Given the description of an element on the screen output the (x, y) to click on. 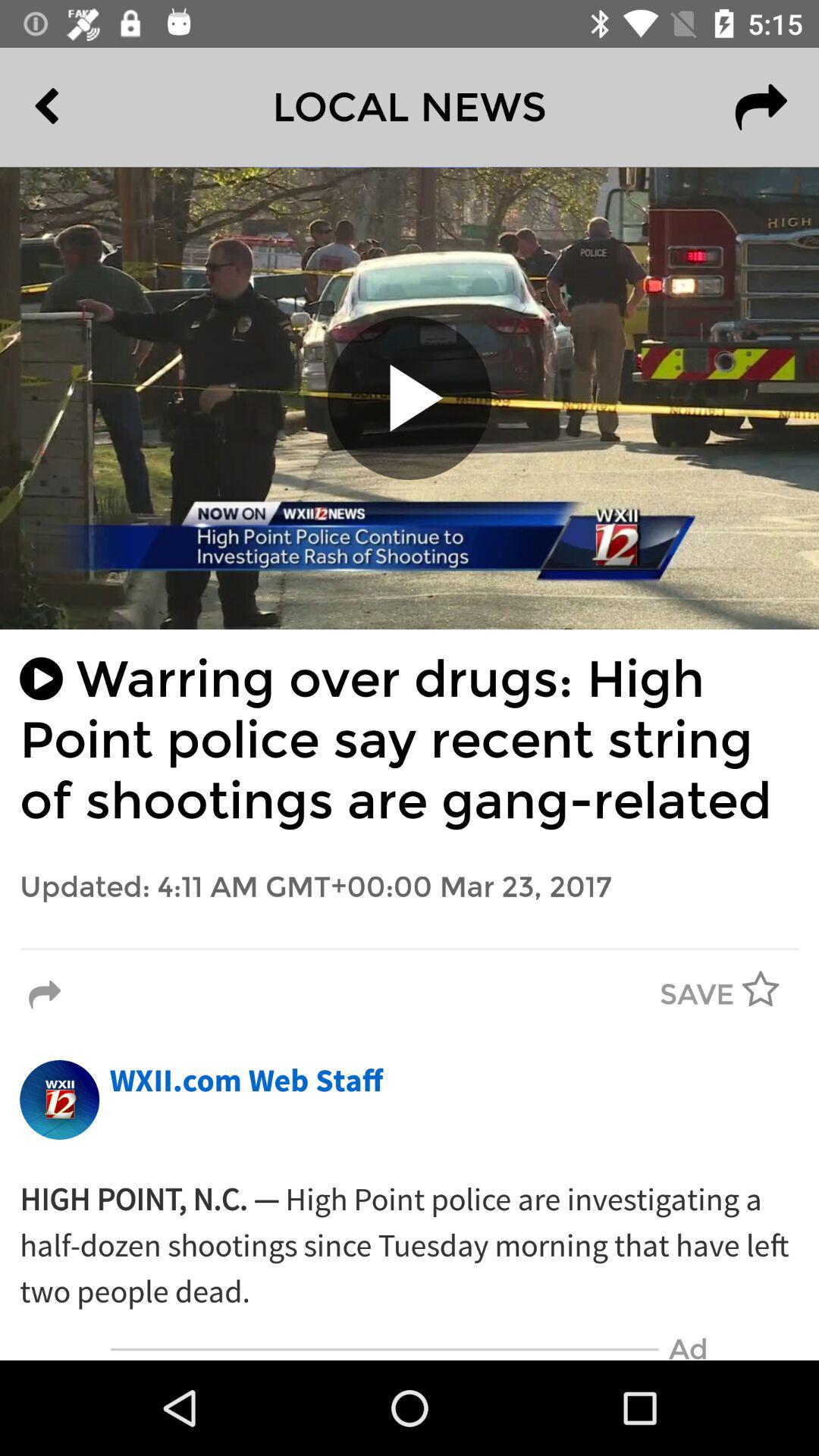
open item next to local news icon (81, 107)
